Given the description of an element on the screen output the (x, y) to click on. 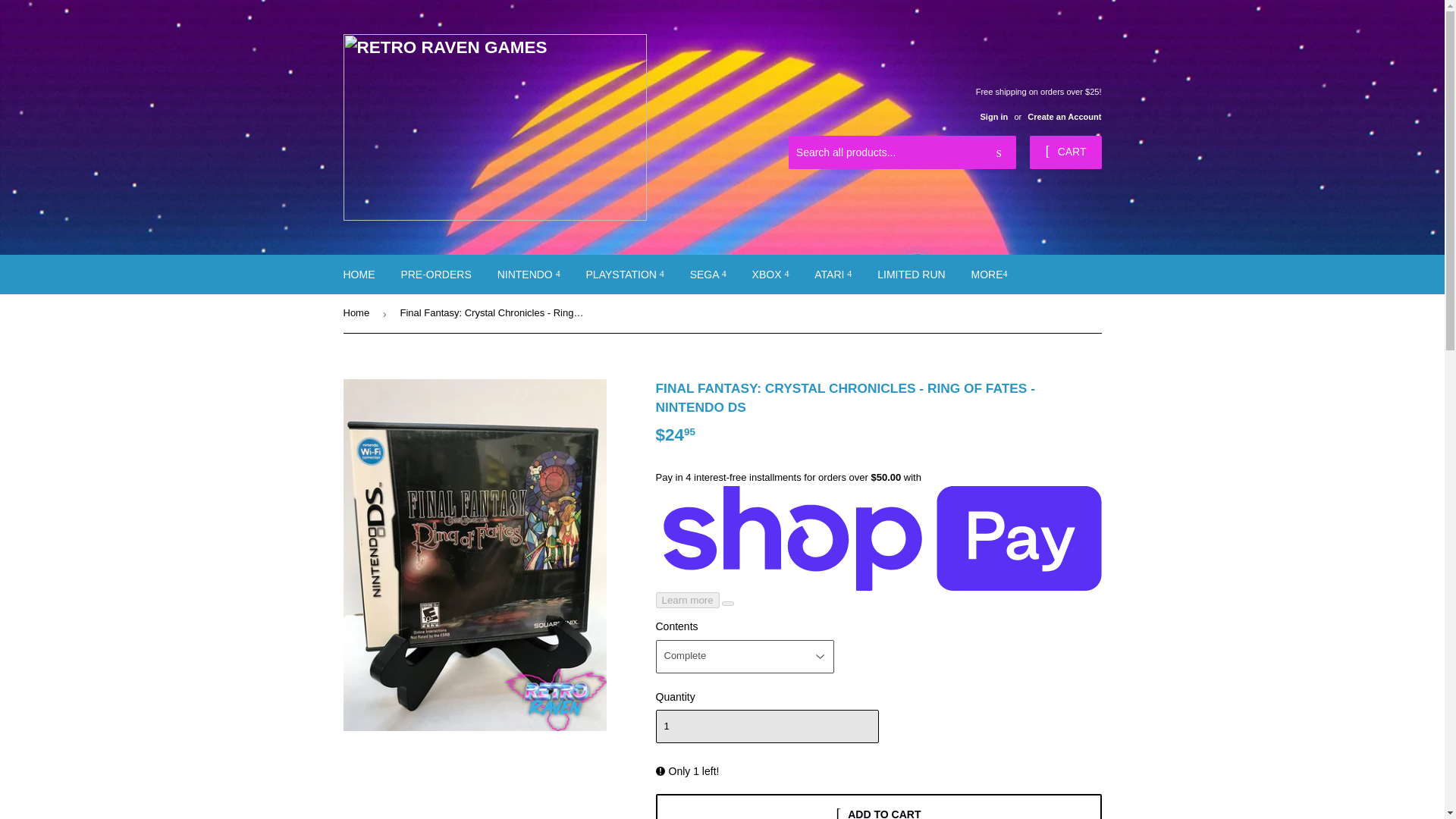
1 (766, 726)
Sign in (993, 116)
CART (1064, 151)
Create an Account (1063, 116)
Search (998, 152)
